Given the description of an element on the screen output the (x, y) to click on. 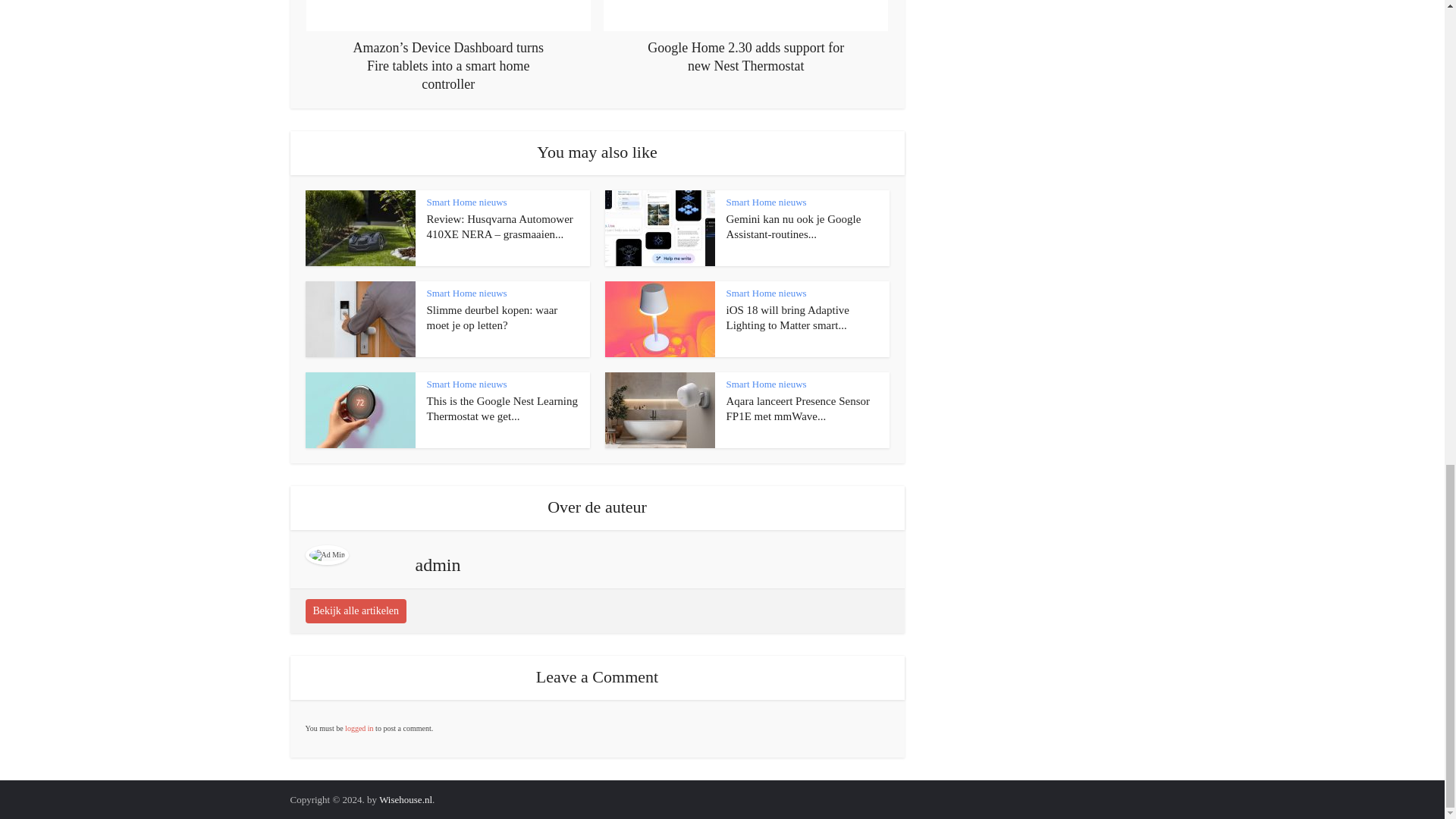
Gemini kan nu ook je Google Assistant-routines uitvoeren (793, 226)
Google Home 2.30 adds support for new Nest Thermostat (746, 37)
iOS 18 will bring Adaptive Lighting to Matter smart bulbs (788, 317)
Slimme deurbel kopen: waar moet je op letten? (491, 317)
Aqara lanceert Presence Sensor FP1E met mmWave-technologie (798, 408)
Smart Home nieuws (466, 202)
